Given the description of an element on the screen output the (x, y) to click on. 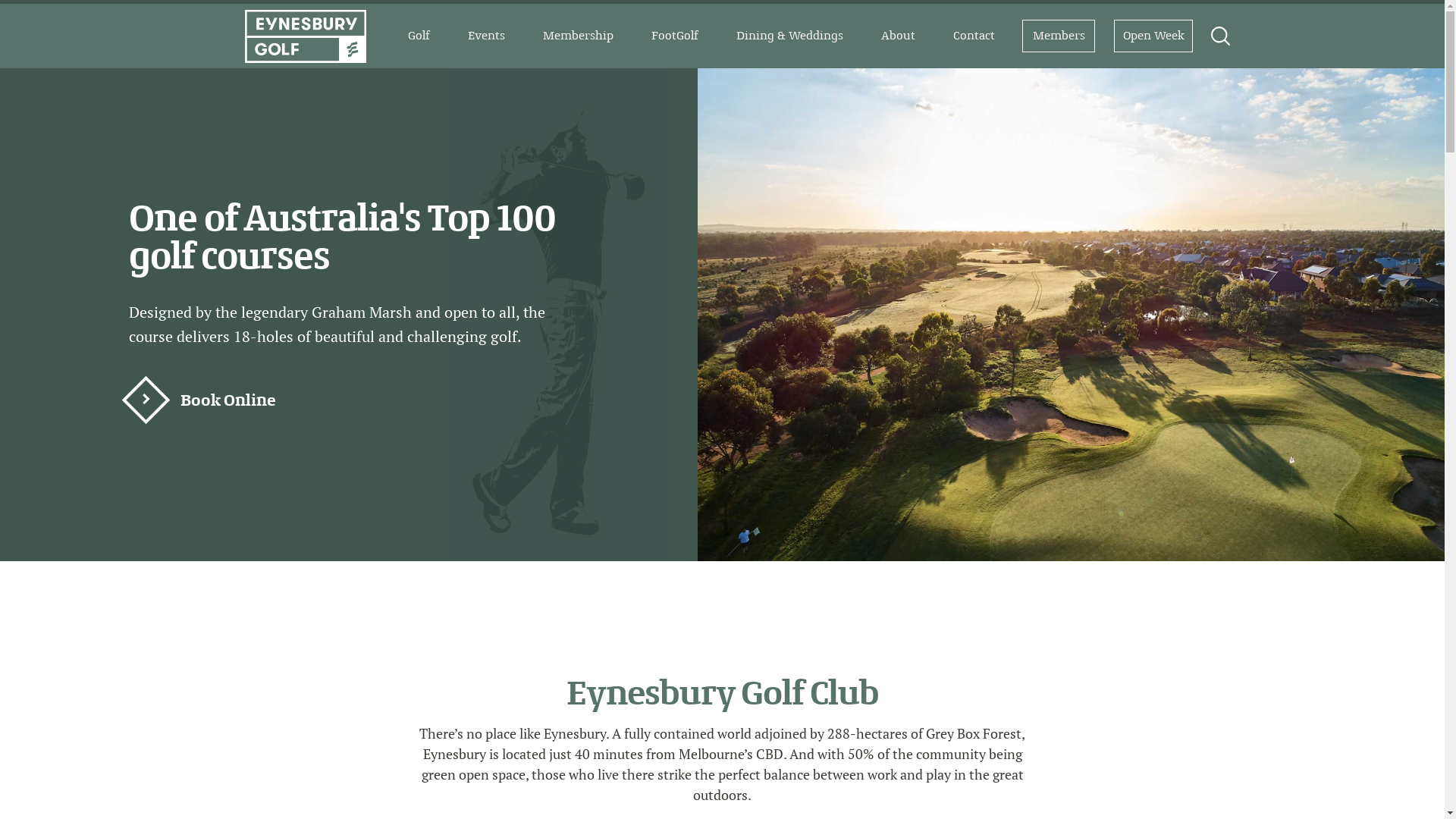
Golf Element type: text (418, 35)
Search Element type: text (41, 18)
About Element type: text (897, 35)
Events Element type: text (486, 35)
FootGolf Element type: text (674, 35)
Members Element type: text (1058, 35)
Book Online Element type: text (211, 401)
Open Week Element type: text (1153, 35)
Contact Element type: text (973, 35)
Membership Element type: text (577, 35)
Dining & Weddings Element type: text (789, 35)
